Given the description of an element on the screen output the (x, y) to click on. 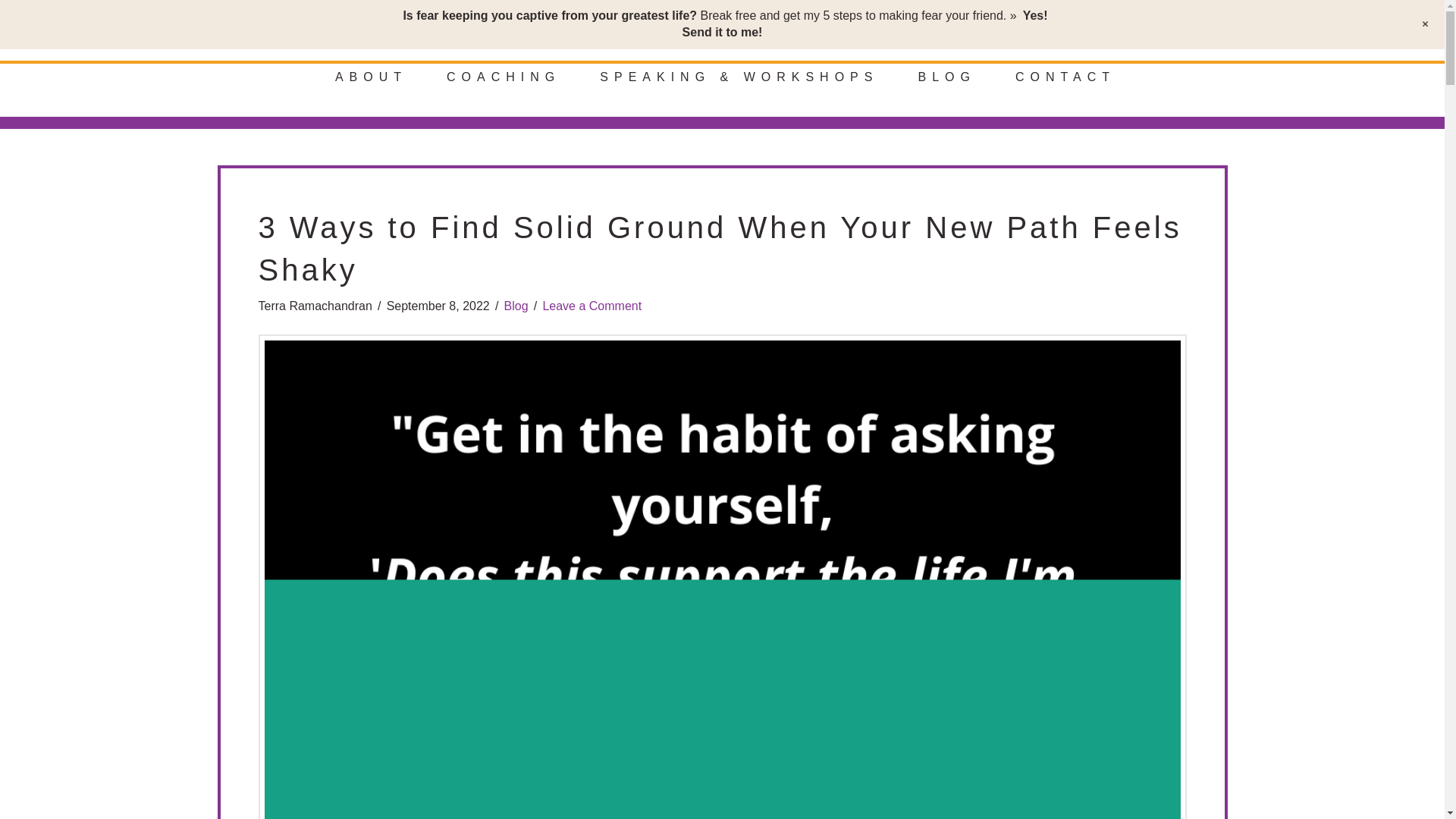
ABOUT (368, 89)
Yes! Send it to me! (865, 23)
Leave a Comment (591, 305)
Blog (515, 305)
BLOG (943, 89)
CONTACT (1062, 89)
COACHING (499, 89)
